Given the description of an element on the screen output the (x, y) to click on. 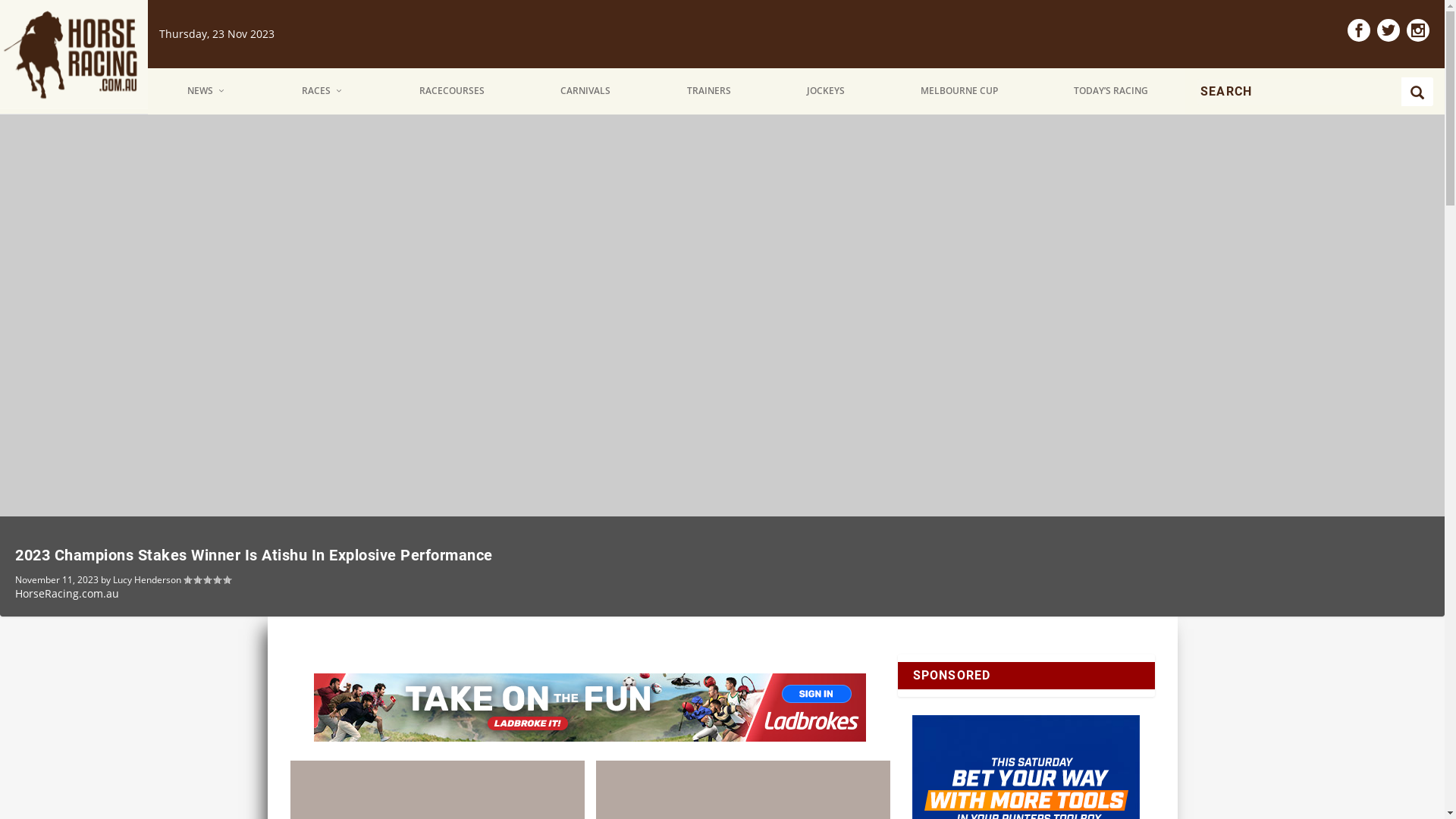
RACECOURSES Element type: text (451, 90)
2 Element type: text (1414, 109)
1 Element type: text (1401, 109)
MELBOURNE CUP Element type: text (960, 90)
advertisement Element type: hover (589, 707)
Rating: 0.00 Element type: hover (206, 579)
NEWS Element type: text (206, 90)
Search for: Element type: hover (1299, 91)
CARNIVALS Element type: text (586, 90)
RACES Element type: text (322, 90)
TRAINERS Element type: text (709, 90)
JOCKEYS Element type: text (826, 90)
Lucy Henderson Element type: text (146, 579)
3 Element type: text (1425, 109)
